Given the description of an element on the screen output the (x, y) to click on. 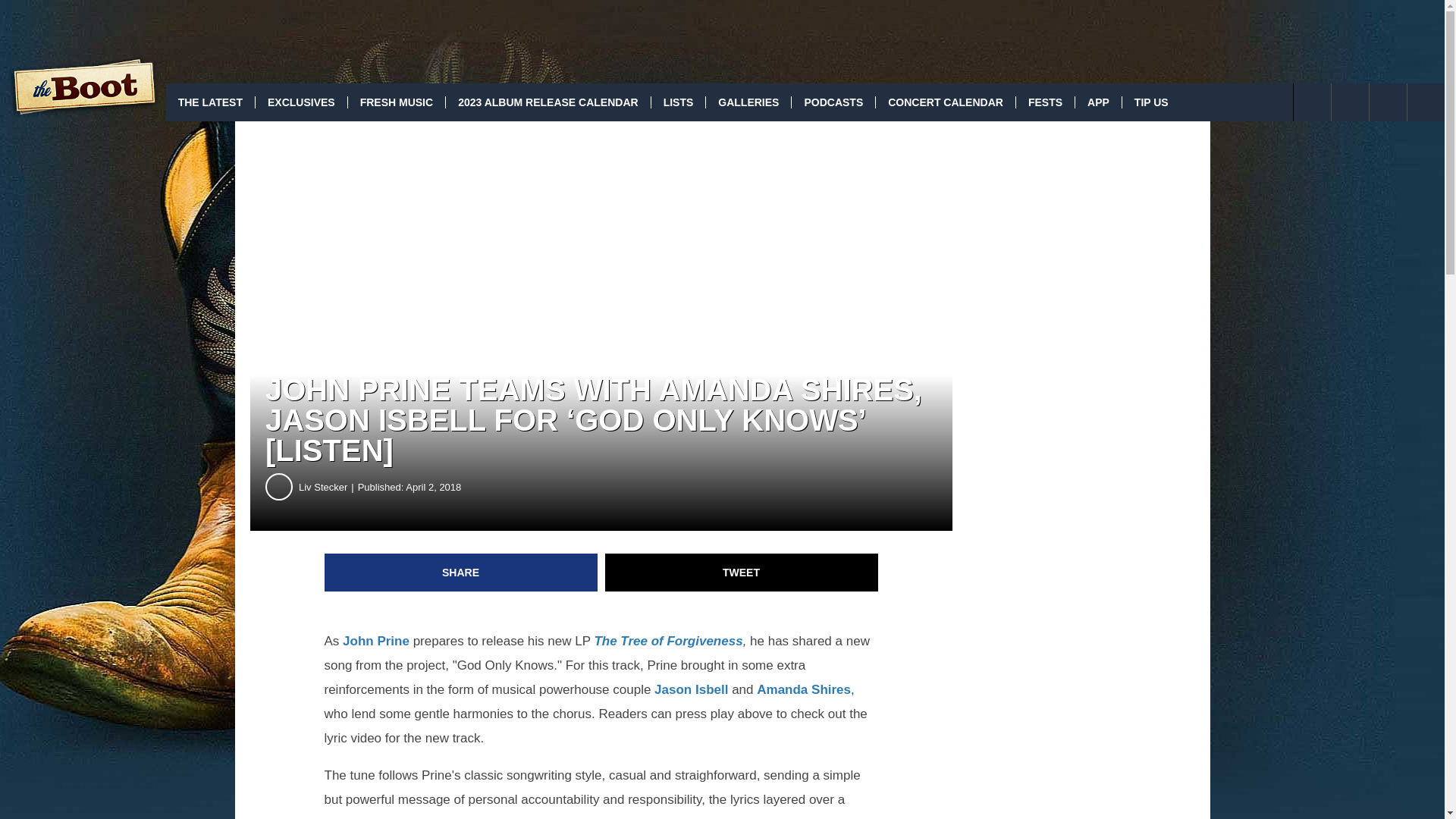
PODCASTS (832, 102)
2023 ALBUM RELEASE CALENDAR (547, 102)
SHARE (460, 572)
Liv Stecker (328, 487)
GALLERIES (747, 102)
Visit us on Twitter (1388, 102)
Visit us on Facebook (1350, 102)
FRESH MUSIC (396, 102)
Amanda Shires (803, 689)
LISTS (678, 102)
